Given the description of an element on the screen output the (x, y) to click on. 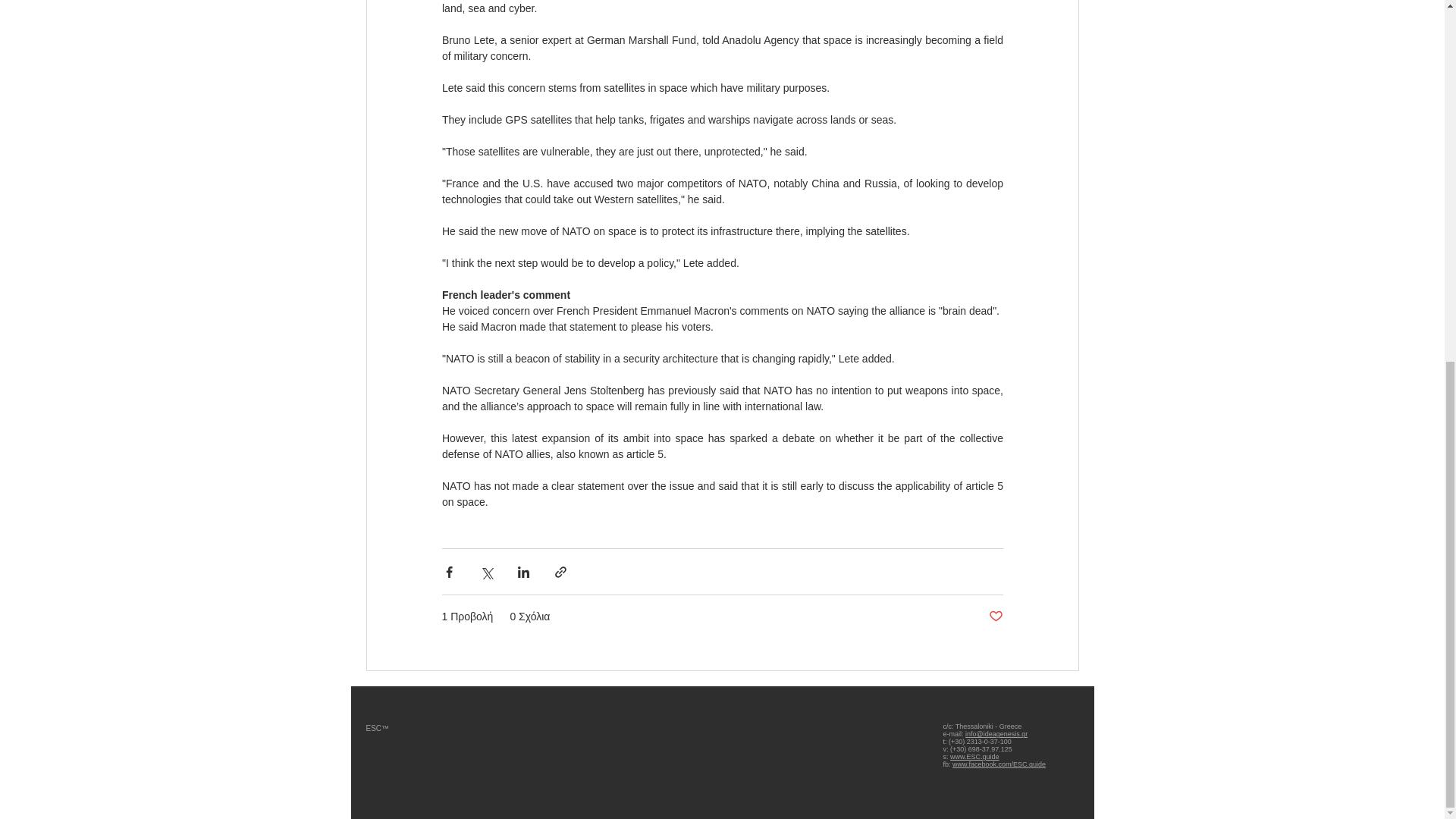
www.ESC.guide (974, 756)
